Given the description of an element on the screen output the (x, y) to click on. 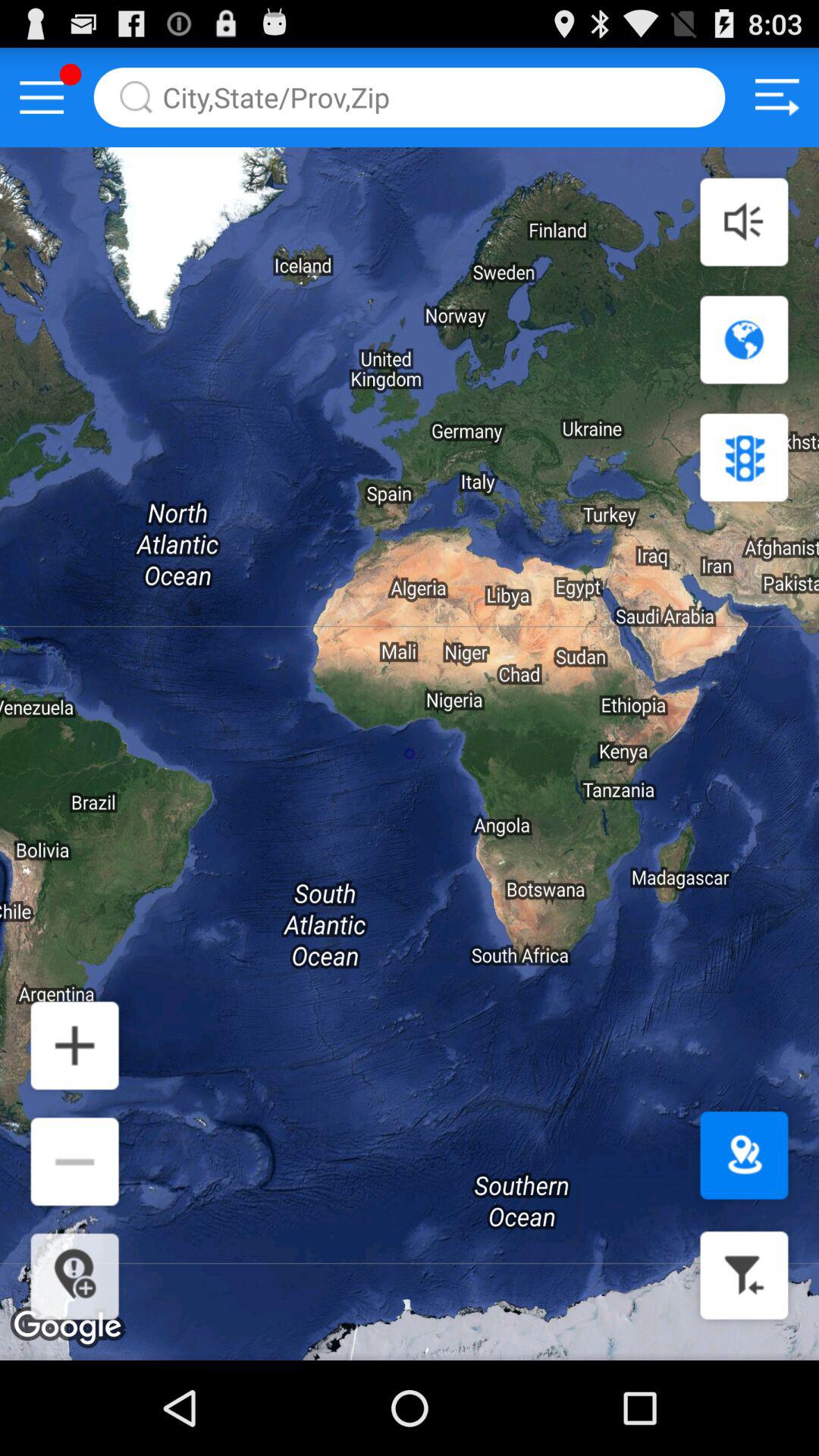
enter city zip space (409, 97)
